Given the description of an element on the screen output the (x, y) to click on. 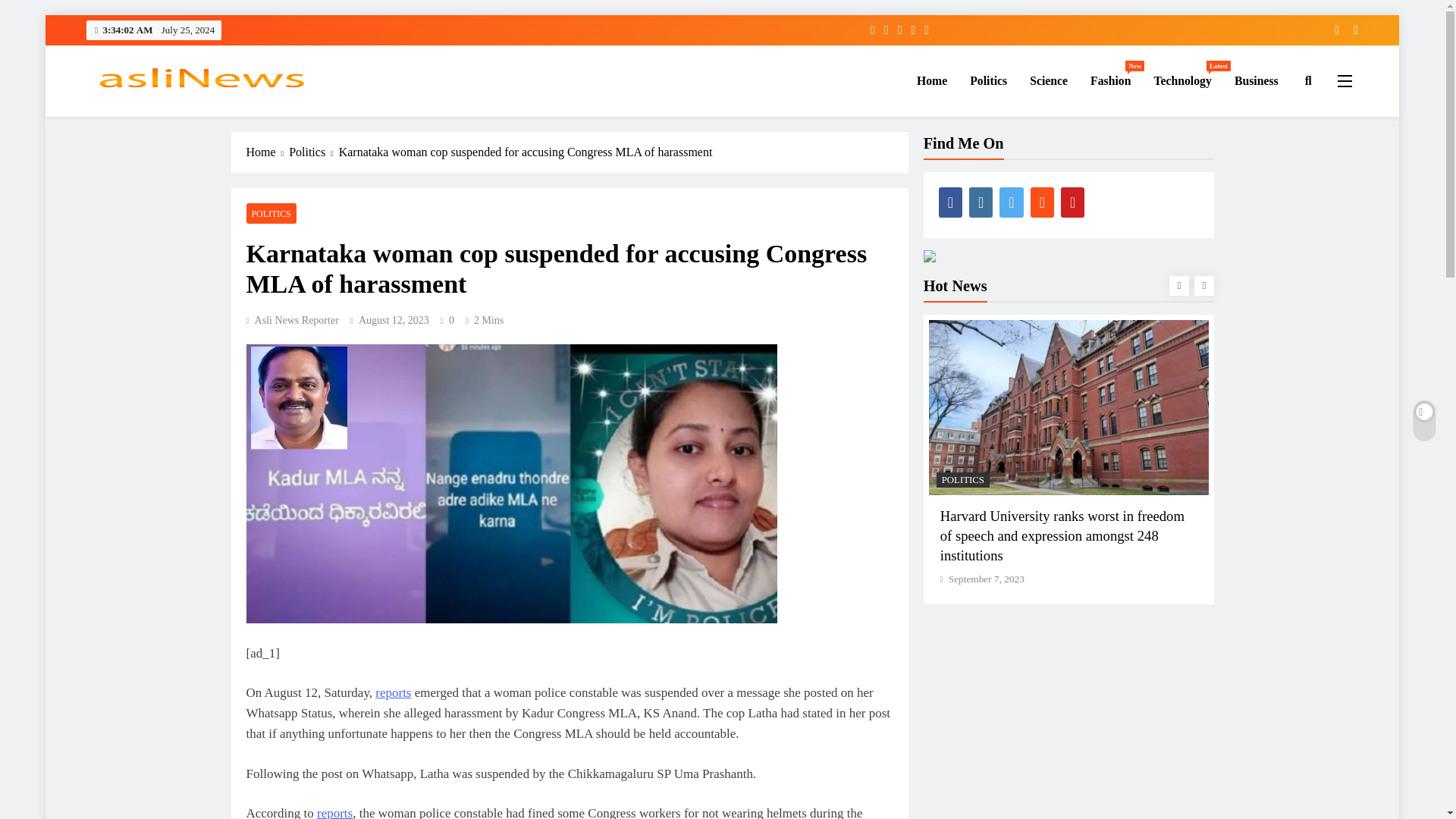
Home (931, 80)
Politics (987, 80)
aslinews.com (1109, 80)
Science (152, 113)
Business (1047, 80)
